Given the description of an element on the screen output the (x, y) to click on. 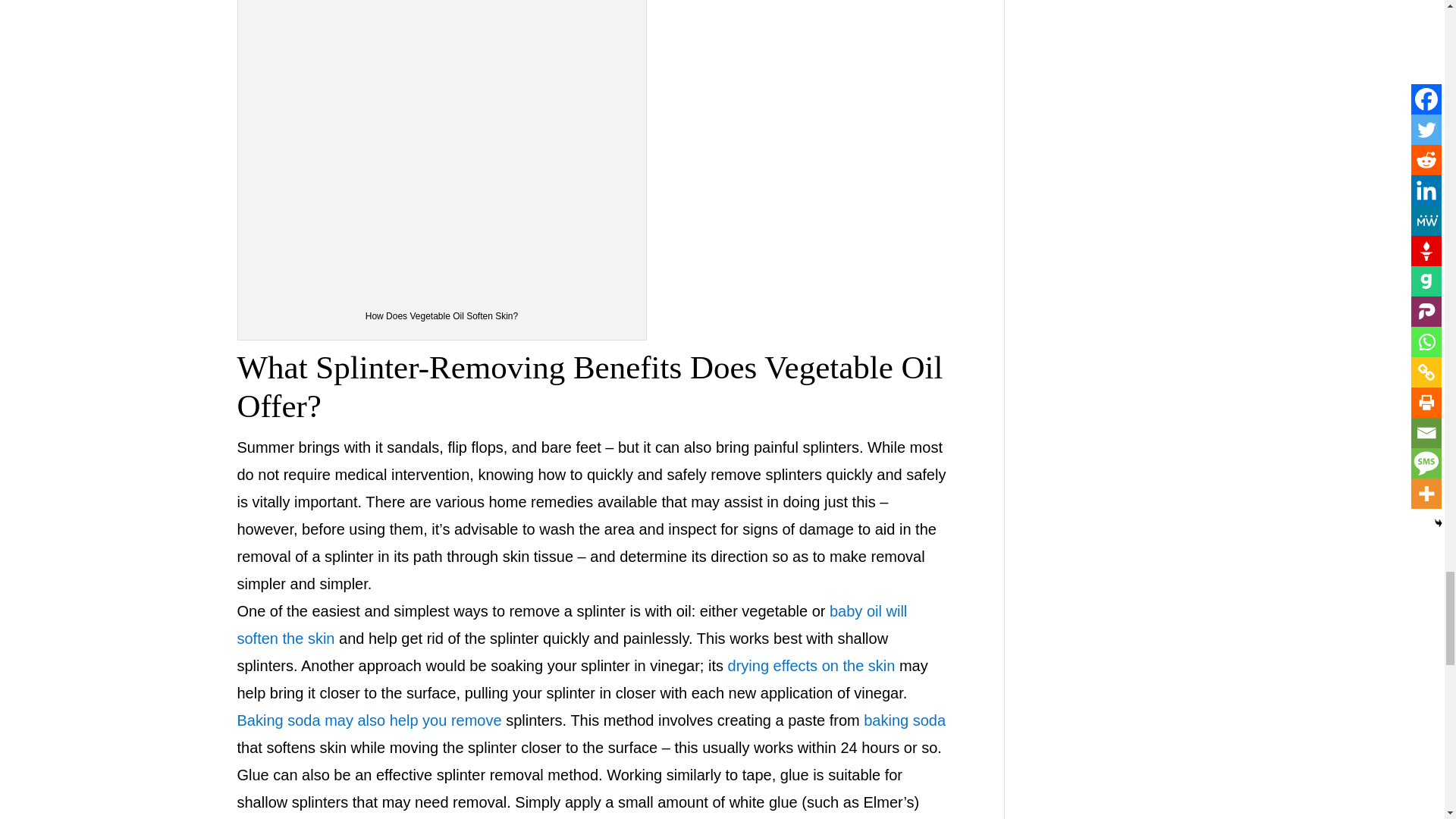
How Does Vegetable Oil Soften Skin? (442, 147)
